Given the description of an element on the screen output the (x, y) to click on. 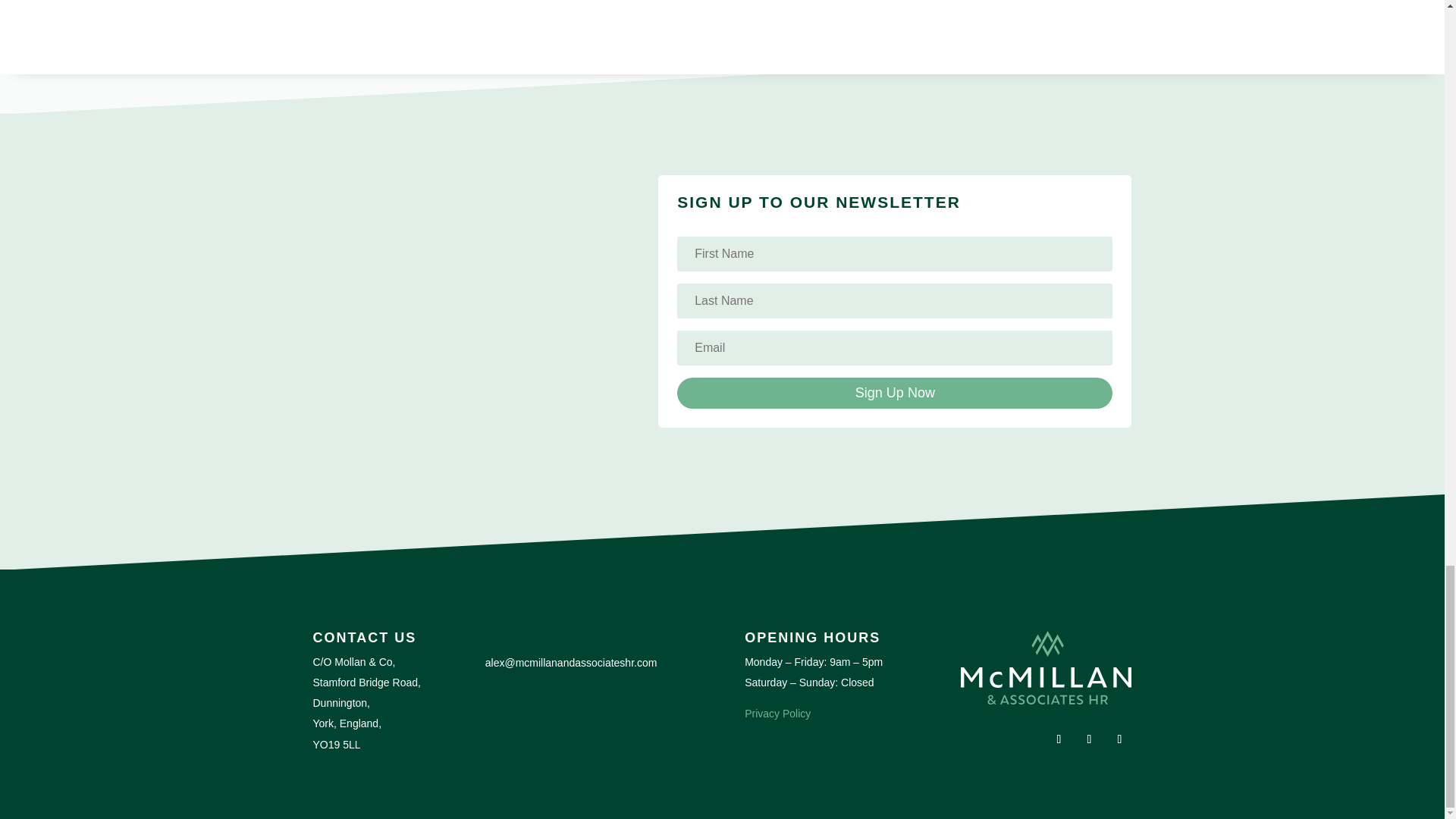
Follow on LinkedIn (1118, 739)
mc-logo-white (1045, 667)
Follow on Twitter (1088, 739)
Follow on Facebook (1058, 739)
